Given the description of an element on the screen output the (x, y) to click on. 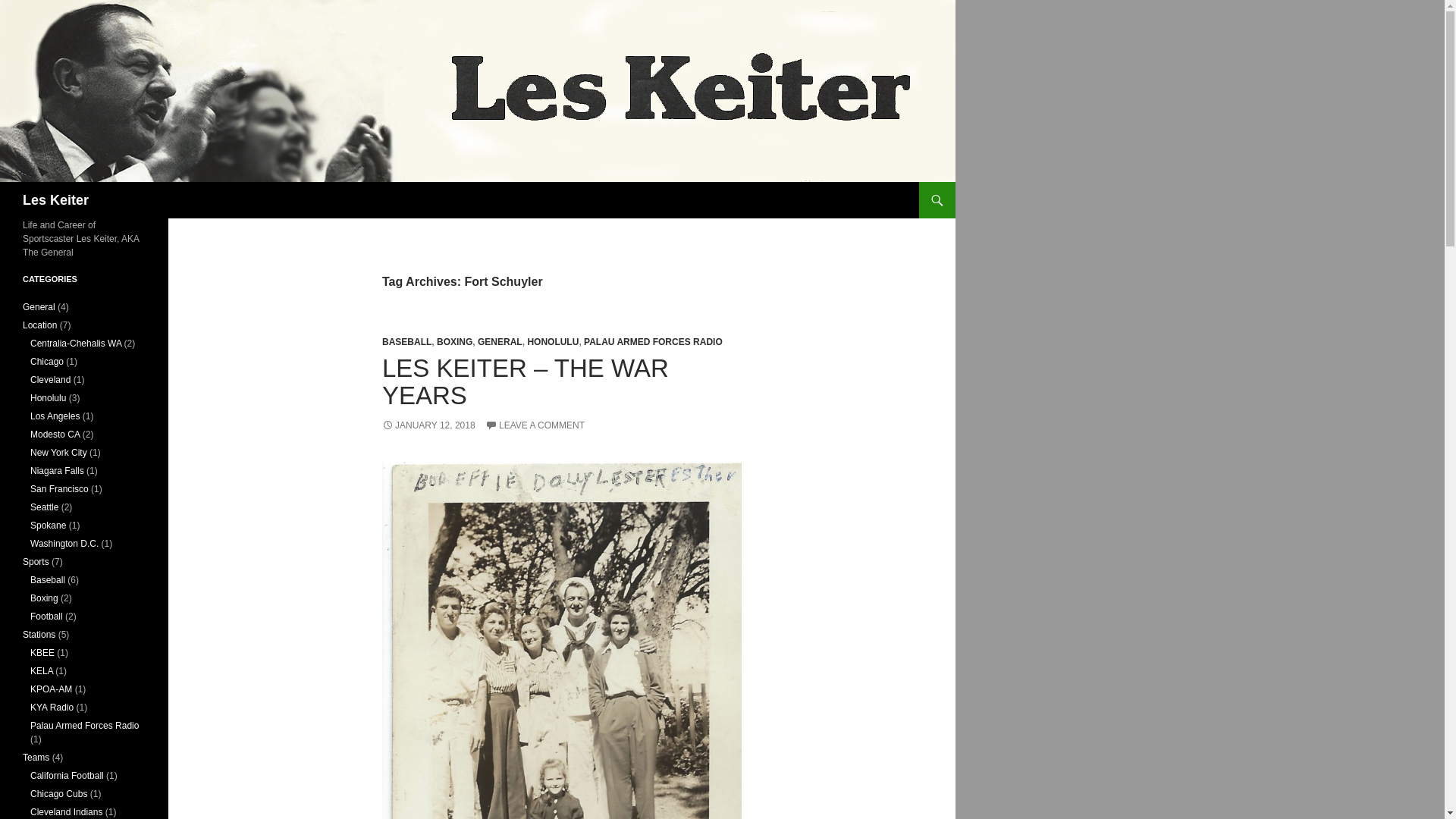
PALAU ARMED FORCES RADIO (652, 341)
BOXING (453, 341)
BASEBALL (405, 341)
Les Keiter (55, 199)
LEAVE A COMMENT (534, 425)
HONOLULU (552, 341)
GENERAL (499, 341)
JANUARY 12, 2018 (428, 425)
